Given the description of an element on the screen output the (x, y) to click on. 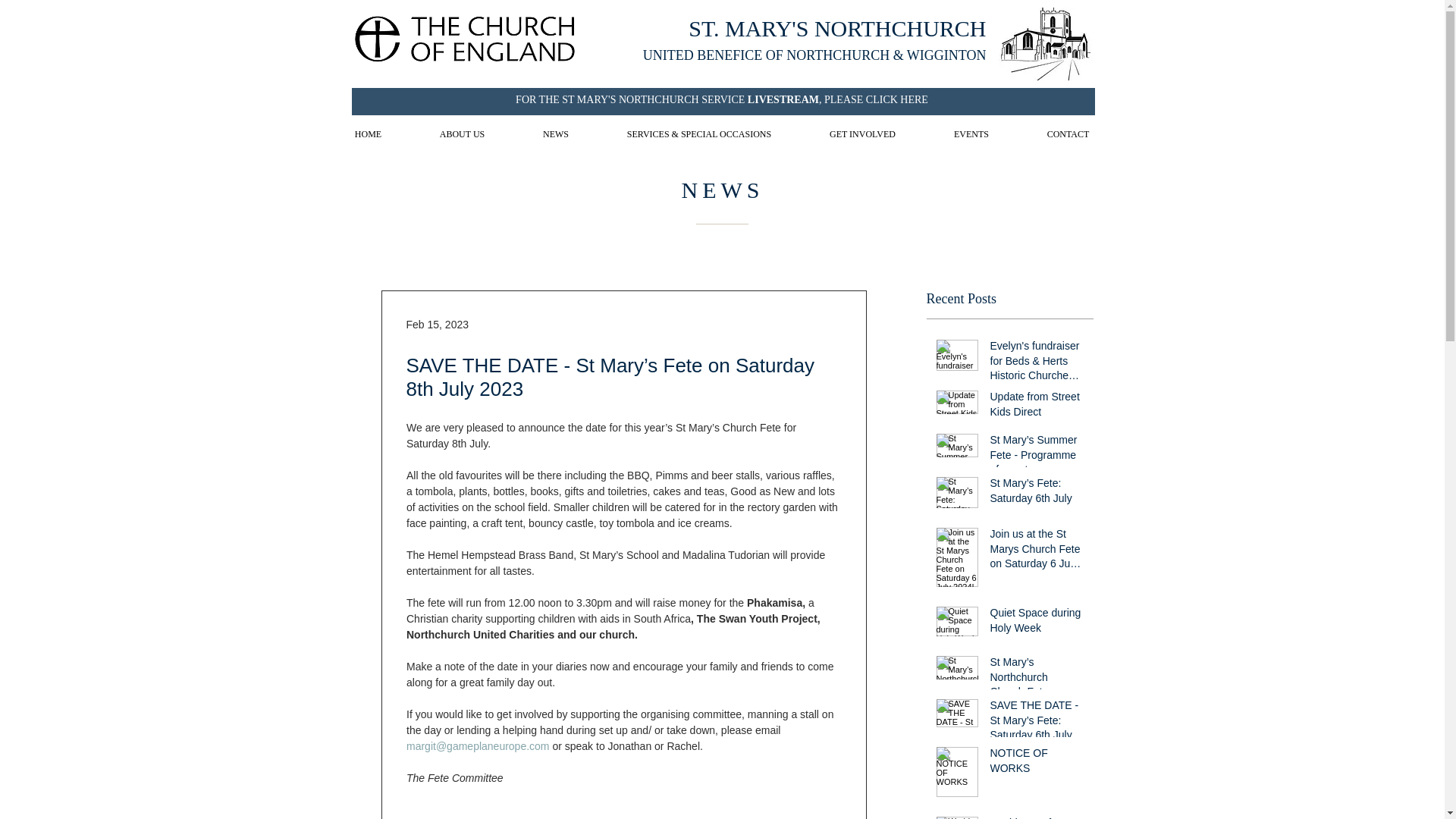
EVENTS (970, 134)
GET INVOLVED (862, 134)
HOME (368, 134)
Join us at the St Marys Church Fete on Saturday 6 July 2024! (1035, 552)
NEWS (555, 134)
Update from Street Kids Direct (1035, 407)
Feb 15, 2023 (437, 324)
ABOUT US (461, 134)
CONTACT (1067, 134)
